Given the description of an element on the screen output the (x, y) to click on. 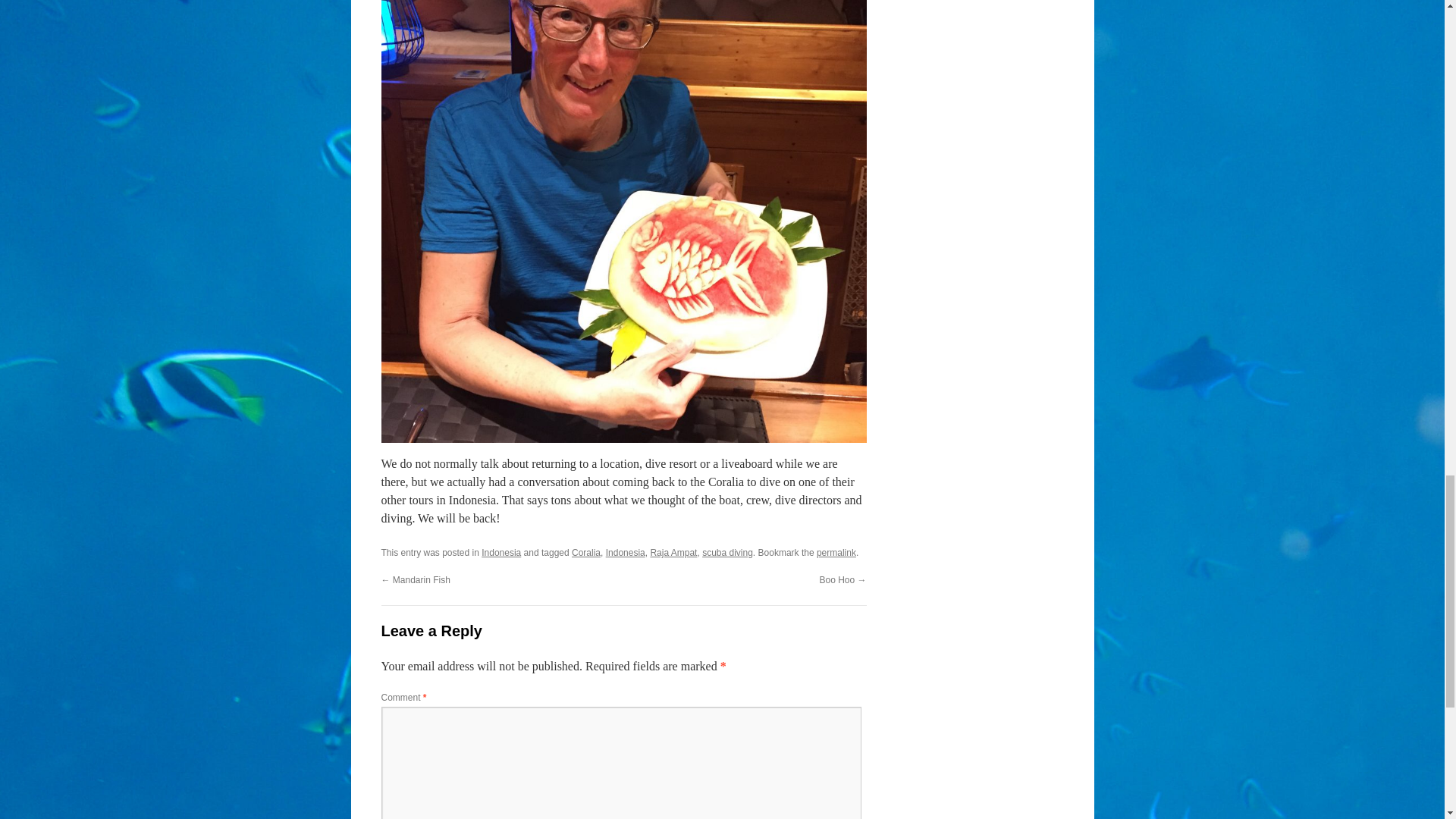
Permalink to Live aboard Scuba Diving (836, 552)
